Given the description of an element on the screen output the (x, y) to click on. 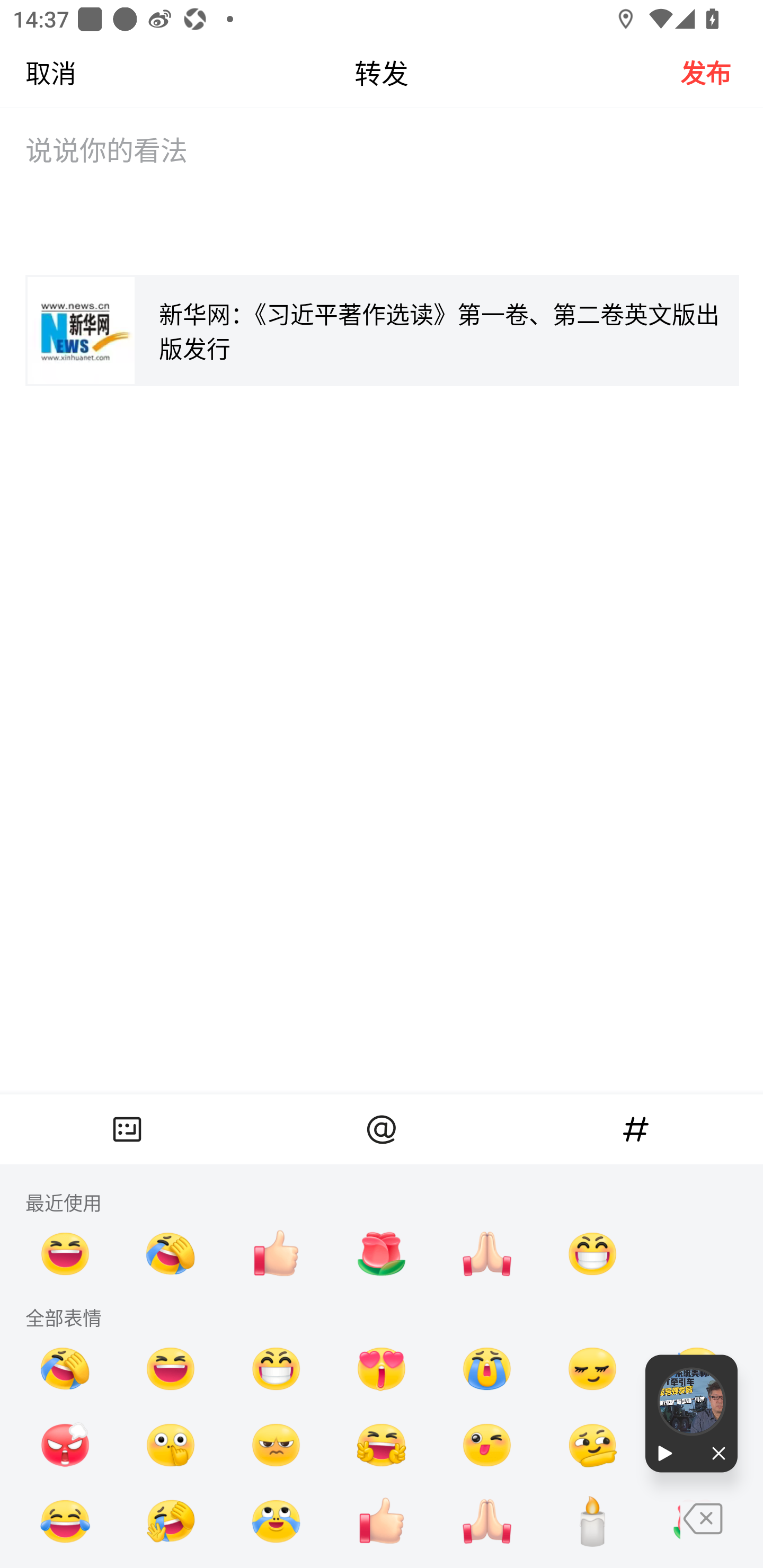
取消 (38, 71)
发布 (721, 71)
说说你的看法 (382, 194)
表情 (127, 1129)
at (381, 1129)
话题 (635, 1129)
[大笑] (65, 1253)
[捂脸] (170, 1253)
[赞] (275, 1253)
[玫瑰] (381, 1253)
[祈祷] (487, 1253)
[呲牙] (592, 1253)
[捂脸] (65, 1368)
[大笑] (170, 1368)
[呲牙] (275, 1368)
[爱慕] (381, 1368)
[流泪] (487, 1368)
[害羞] (592, 1368)
当前进度 0% 播放 关闭 (691, 1413)
[发怒] (65, 1444)
[抠鼻] (170, 1444)
[酷拽] (275, 1444)
[耶] (381, 1444)
[可爱] (487, 1444)
[机智] (592, 1444)
播放 (668, 1454)
关闭 (714, 1454)
[笑哭] (65, 1521)
[我想静静] (170, 1521)
[泪奔] (275, 1521)
[赞] (381, 1521)
[祈祷] (487, 1521)
[蜡烛] (592, 1521)
删除 (721, 1535)
